Given the description of an element on the screen output the (x, y) to click on. 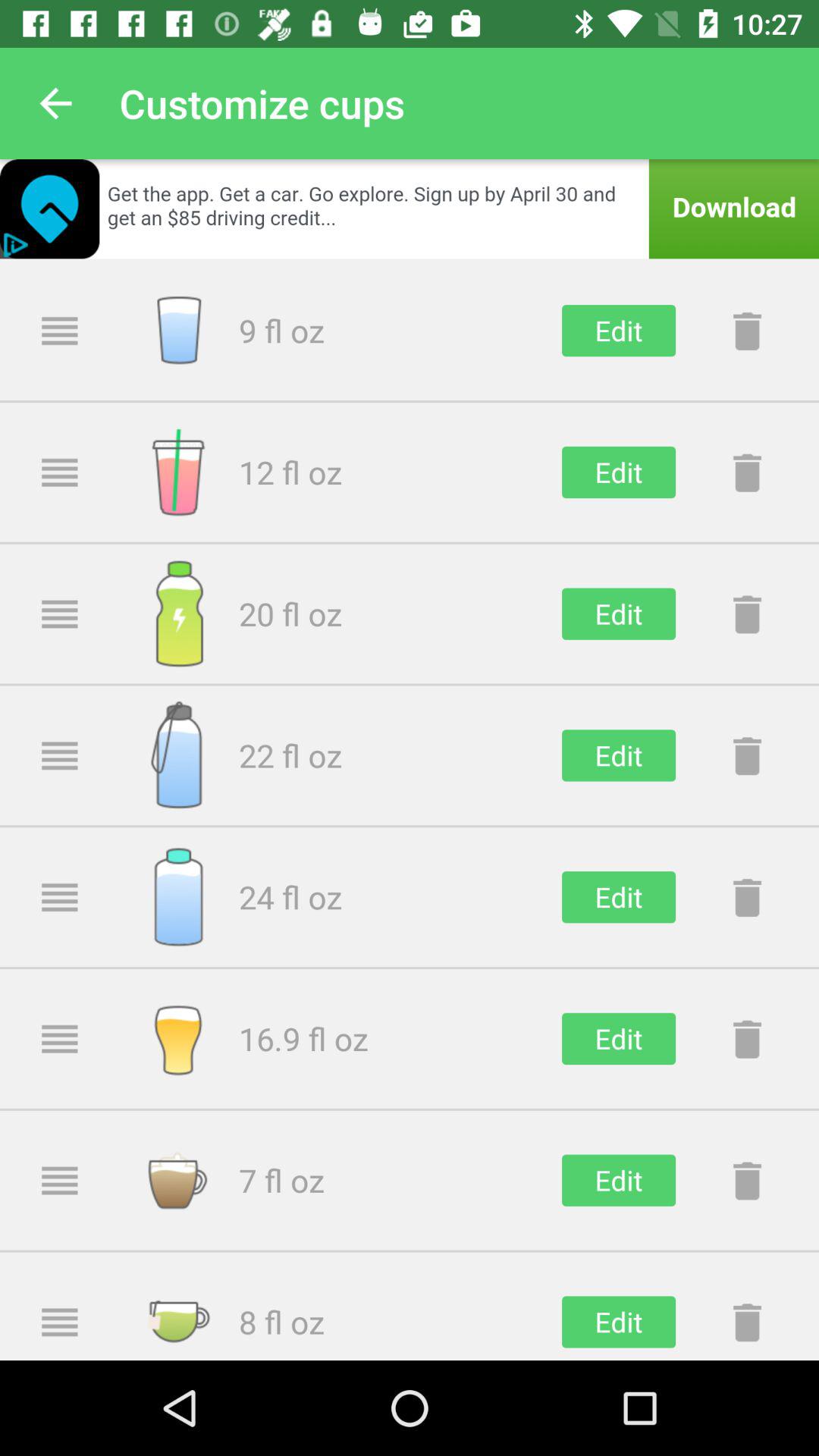
dust pin and water drink reminder (747, 1180)
